Given the description of an element on the screen output the (x, y) to click on. 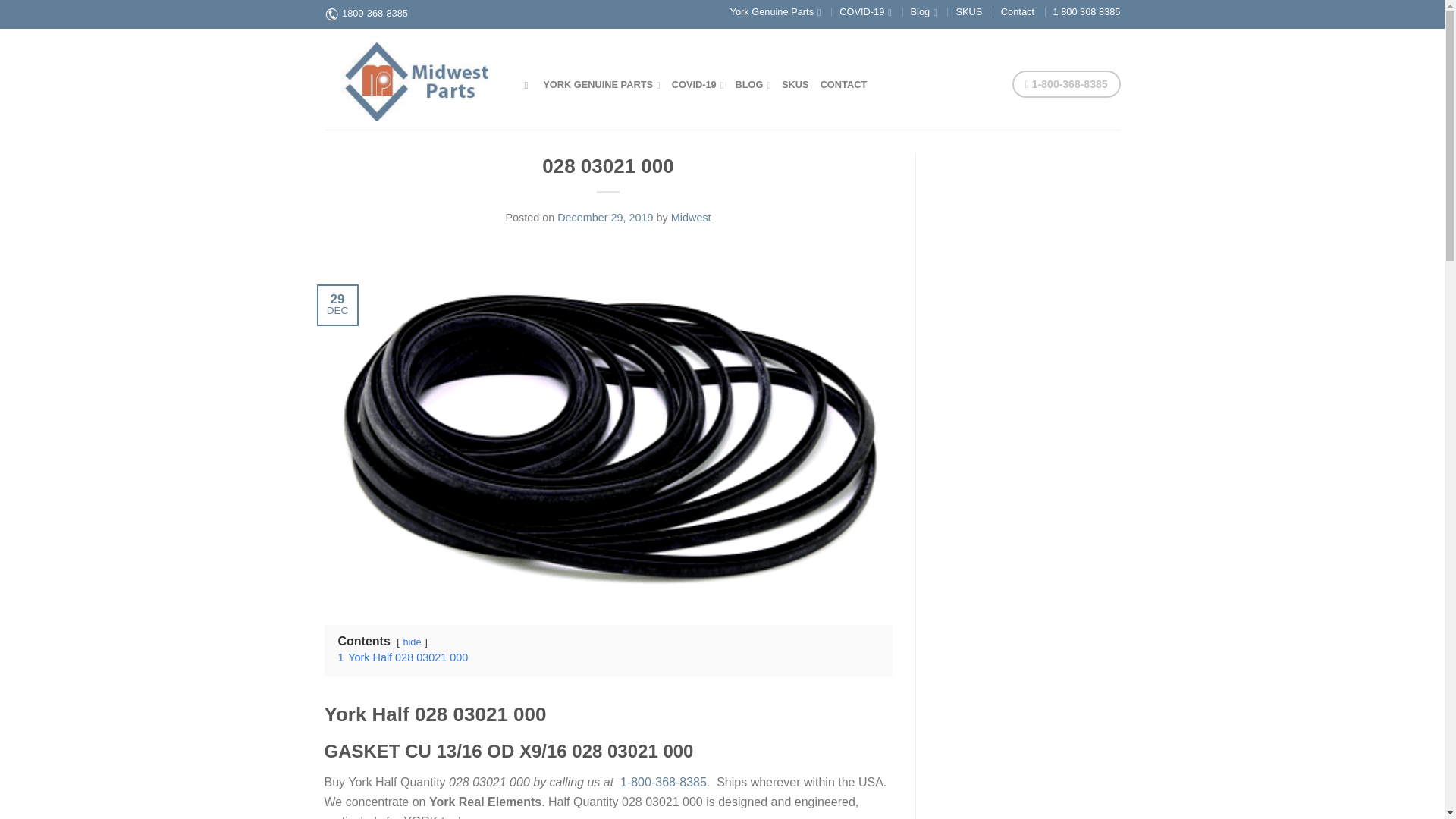
1 800 368 8385 (1086, 11)
York Genuine Parts (775, 11)
Contact (1017, 11)
COVID-19 (697, 84)
1800-368-8385 (374, 12)
Midwest Parts Center - York Genuine Parts (413, 78)
BLOG (752, 84)
Blog (924, 11)
SKUS (968, 11)
YORK GENUINE PARTS (602, 84)
COVID-19 (865, 11)
